Given the description of an element on the screen output the (x, y) to click on. 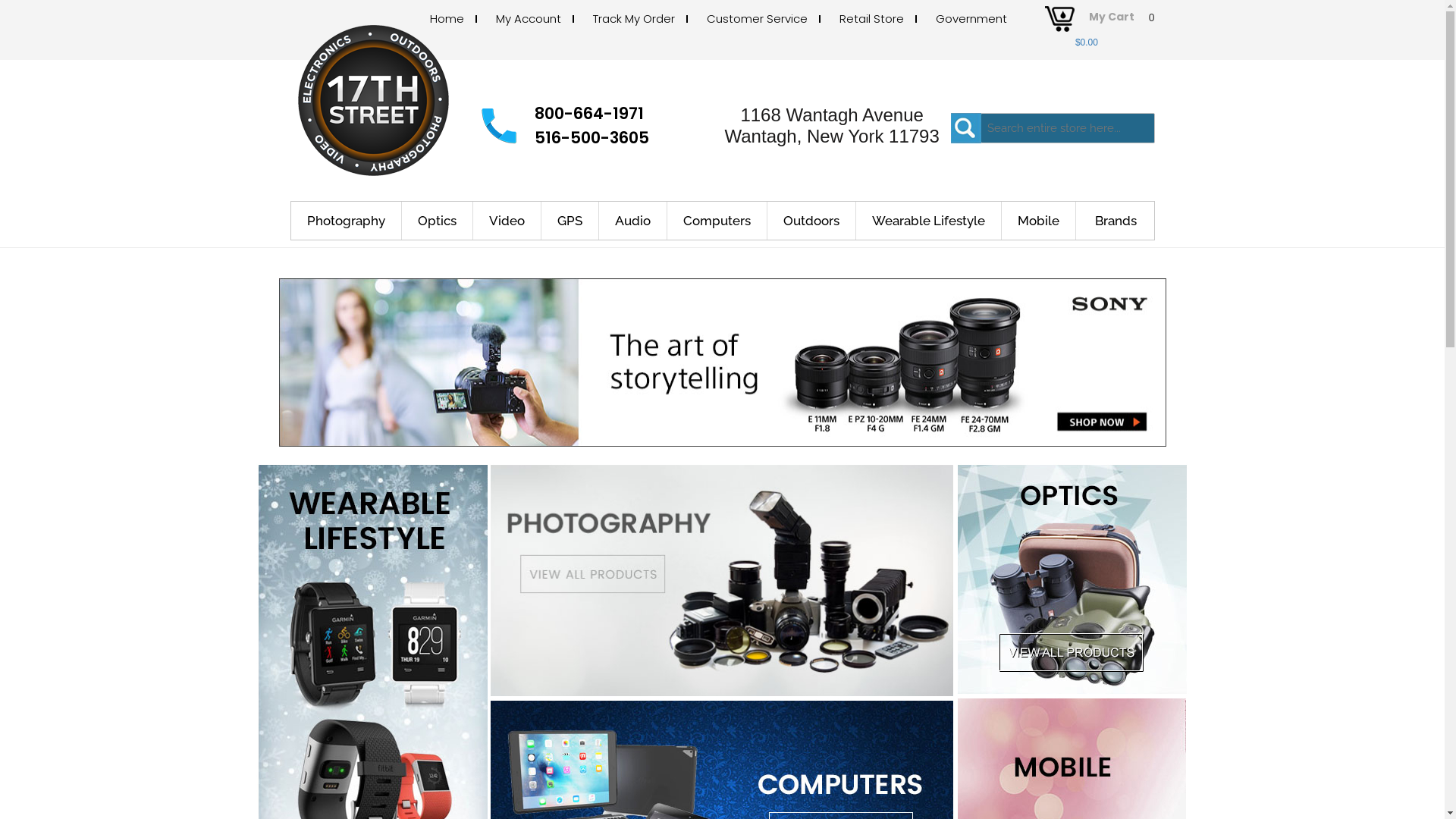
Audio Element type: text (633, 220)
Brands Element type: text (1114, 220)
Computers Element type: text (717, 220)
Search Element type: hover (965, 127)
My Cart Element type: text (1111, 20)
Government Element type: text (971, 18)
Video Element type: text (507, 220)
Mobile Element type: text (1038, 220)
Outdoors Element type: text (811, 220)
My Account Element type: text (528, 18)
Wearable Lifestyle Element type: text (928, 220)
Photography Element type: text (346, 220)
GPS Element type: text (570, 220)
Optics Element type: text (437, 220)
$0.00 Element type: text (1086, 42)
Retail Store Element type: text (871, 18)
Track My Order Element type: text (633, 18)
Customer Service Element type: text (756, 18)
Home Element type: text (446, 18)
